Given the description of an element on the screen output the (x, y) to click on. 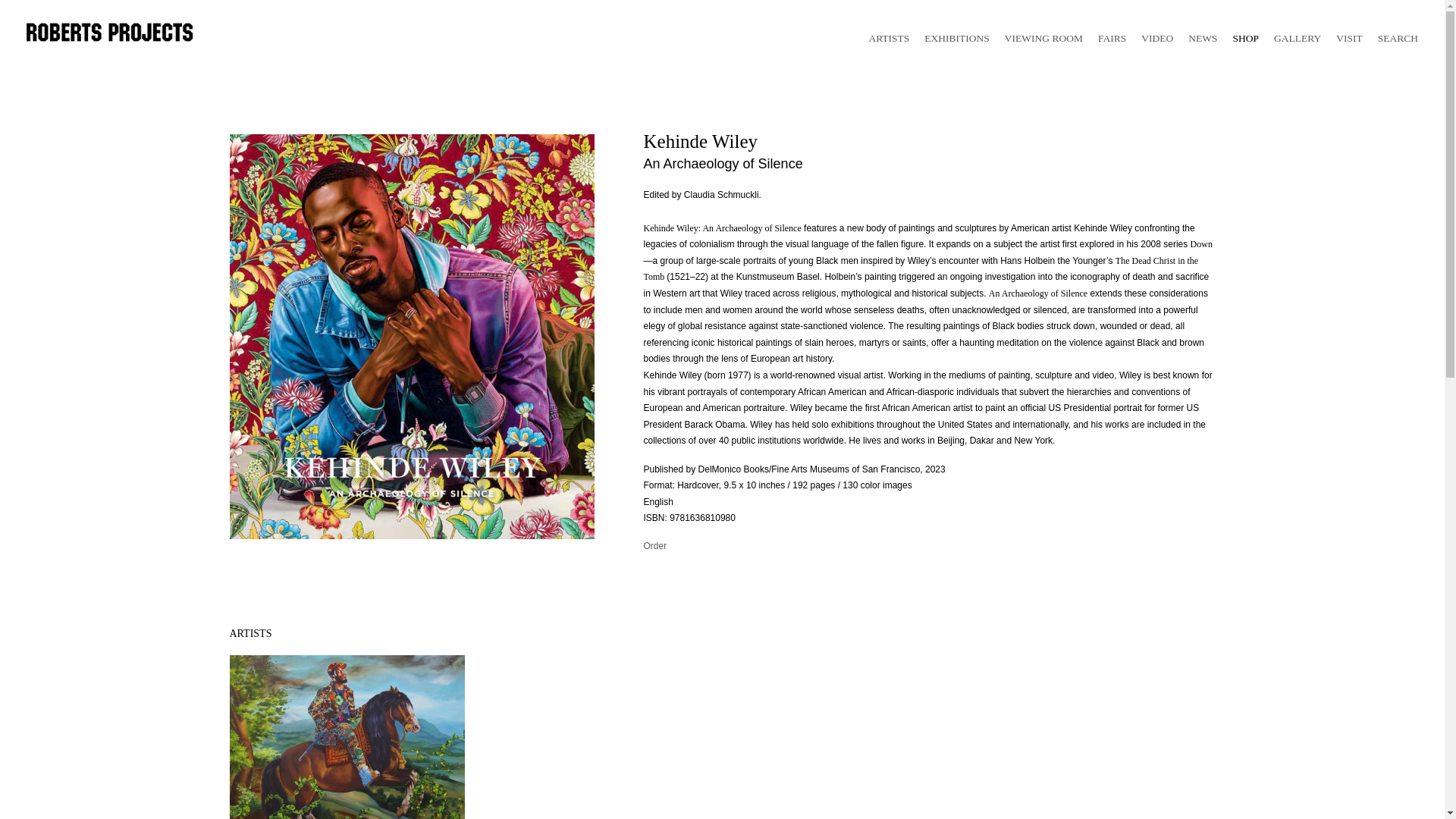
Kehinde Wiley (346, 737)
SHOP (1245, 38)
VISIT (1349, 38)
VIDEO (1157, 38)
NEWS (1202, 38)
GALLERY (1297, 38)
Order (654, 545)
VIEWING ROOM (1043, 38)
ARTISTS (887, 38)
FAIRS (1111, 38)
SEARCH (1397, 38)
EXHIBITIONS (957, 38)
Kehinde Wiley (346, 737)
